Given the description of an element on the screen output the (x, y) to click on. 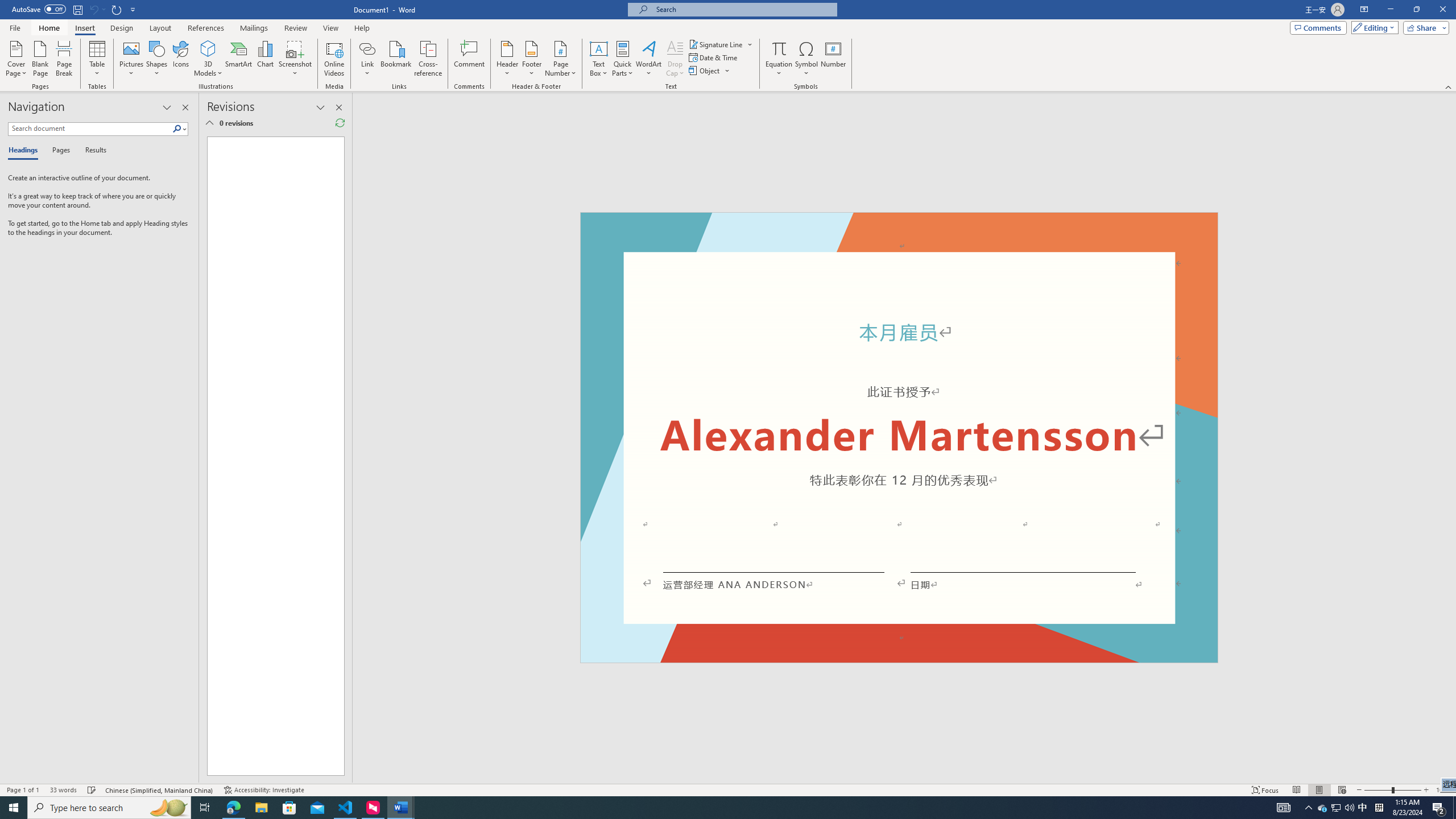
Bookmark... (396, 58)
Object... (709, 69)
Object... (705, 69)
Link (367, 48)
Refresh Reviewing Pane (339, 122)
Show Detailed Summary (209, 122)
